Given the description of an element on the screen output the (x, y) to click on. 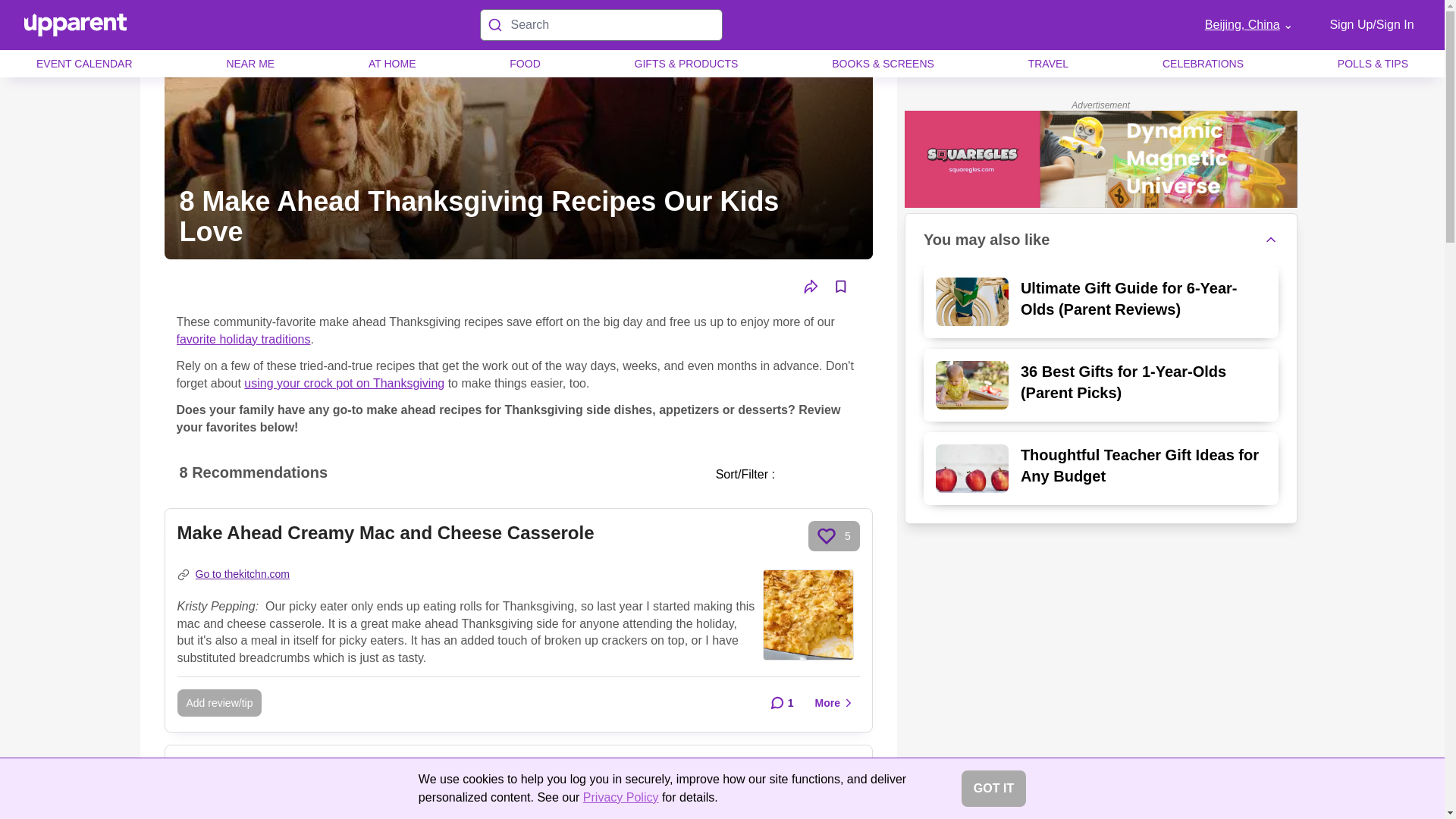
Beijing, China (1248, 24)
I like this. (825, 536)
